Given the description of an element on the screen output the (x, y) to click on. 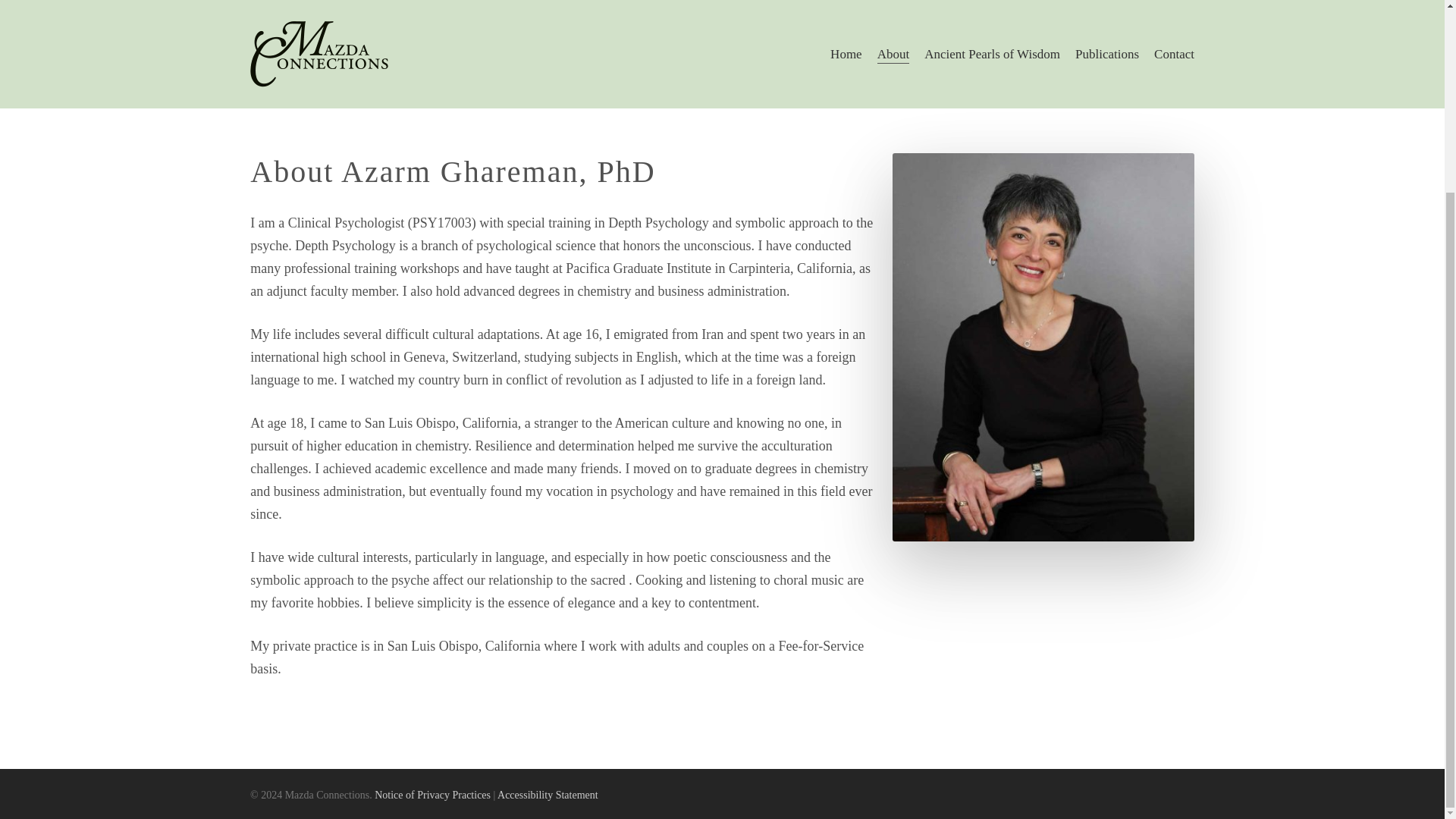
Notice of Privacy Practices (432, 794)
Accessibility Statement (547, 794)
